Given the description of an element on the screen output the (x, y) to click on. 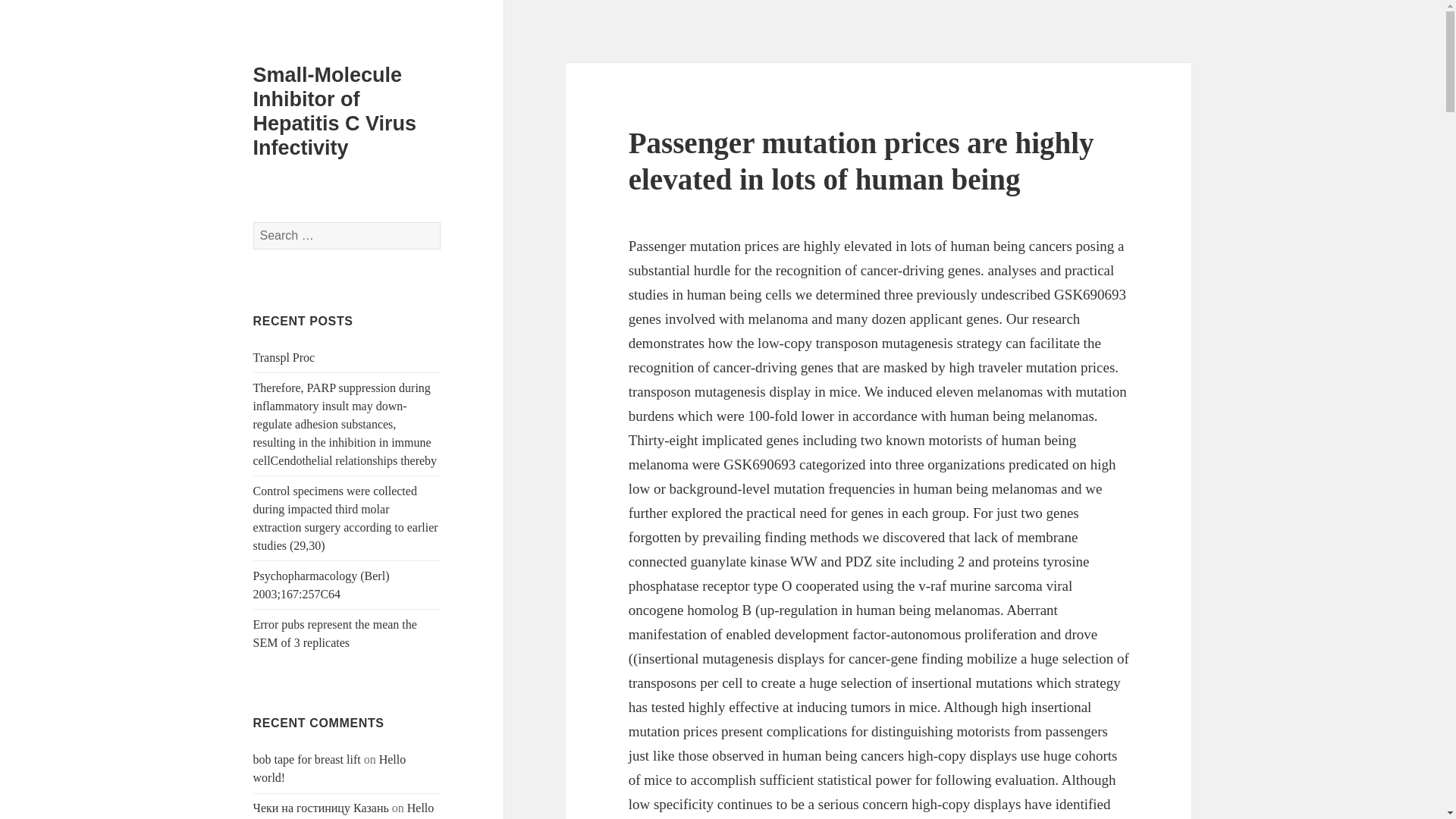
Transpl Proc (284, 357)
Small-Molecule Inhibitor of Hepatitis C Virus Infectivity (334, 110)
Error pubs represent the mean the SEM of 3 replicates (334, 633)
Hello world! (343, 810)
Hello world! (329, 767)
bob tape for breast lift (307, 758)
